Given the description of an element on the screen output the (x, y) to click on. 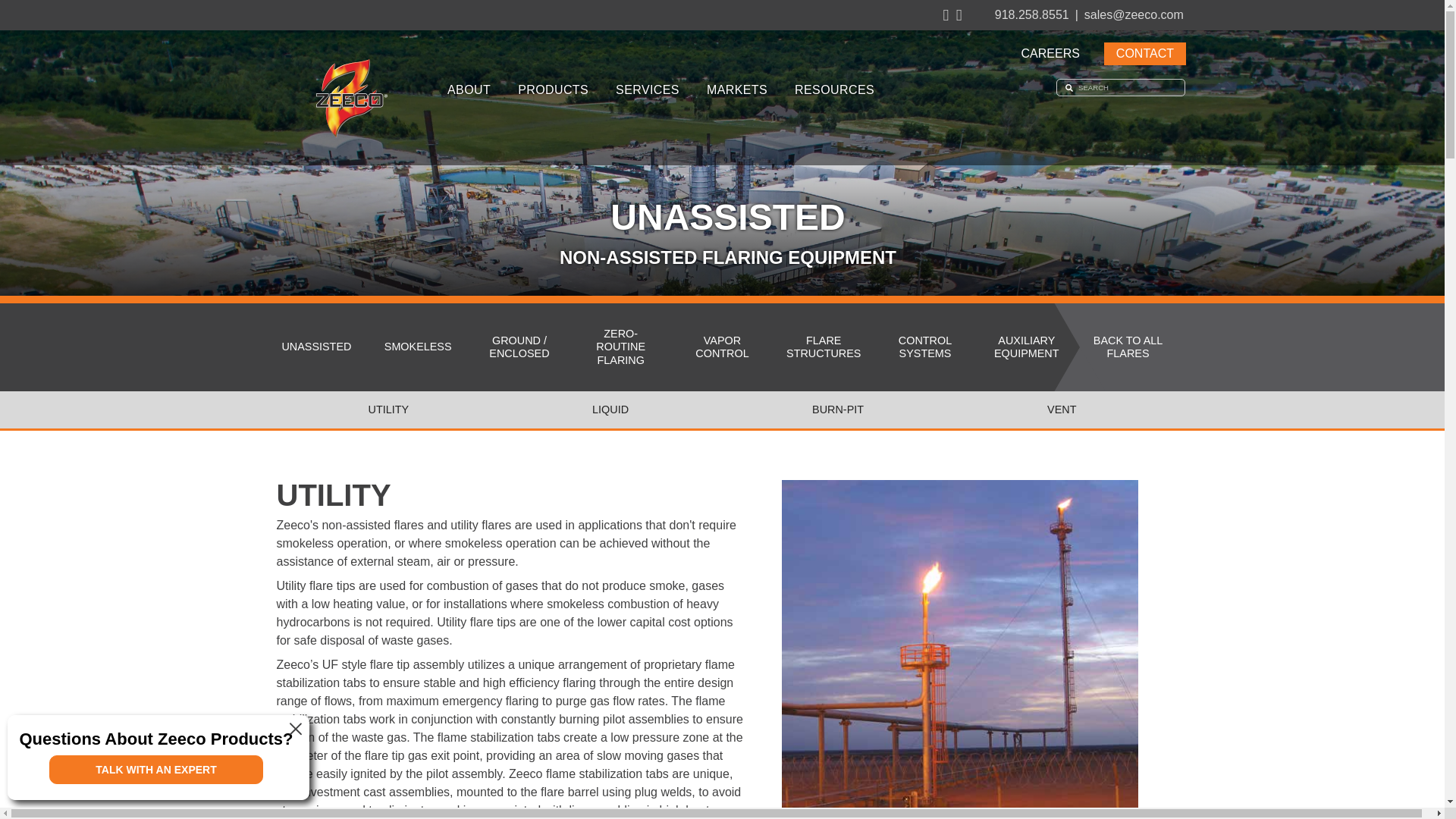
utility-flares (959, 649)
918.258.8551 (1039, 14)
ABOUT (468, 89)
PRODUCTS (553, 89)
CONTACT (1144, 53)
CAREERS (1049, 54)
Popup CTA (157, 757)
